Given the description of an element on the screen output the (x, y) to click on. 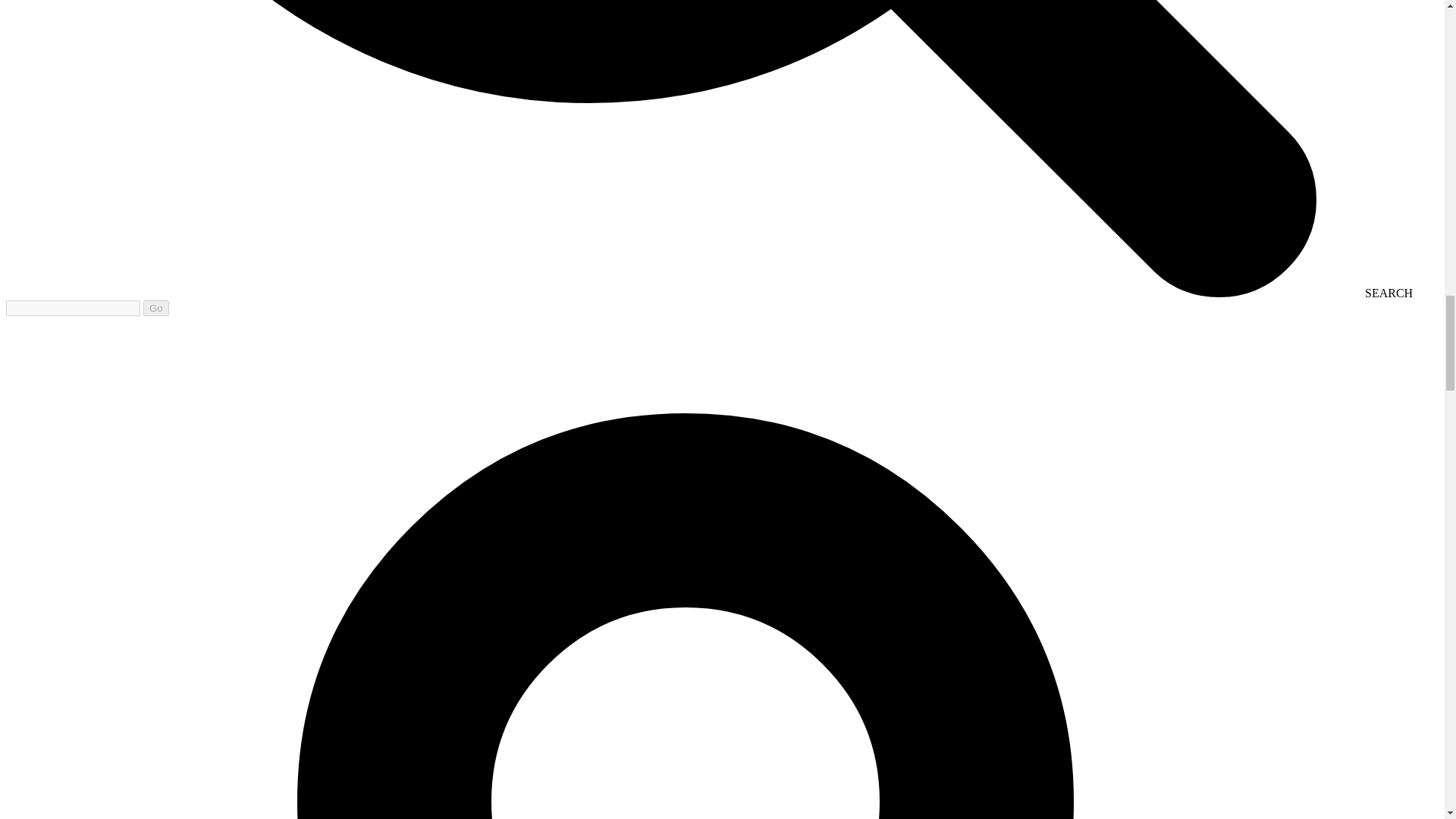
Go (155, 308)
Go (155, 308)
